Given the description of an element on the screen output the (x, y) to click on. 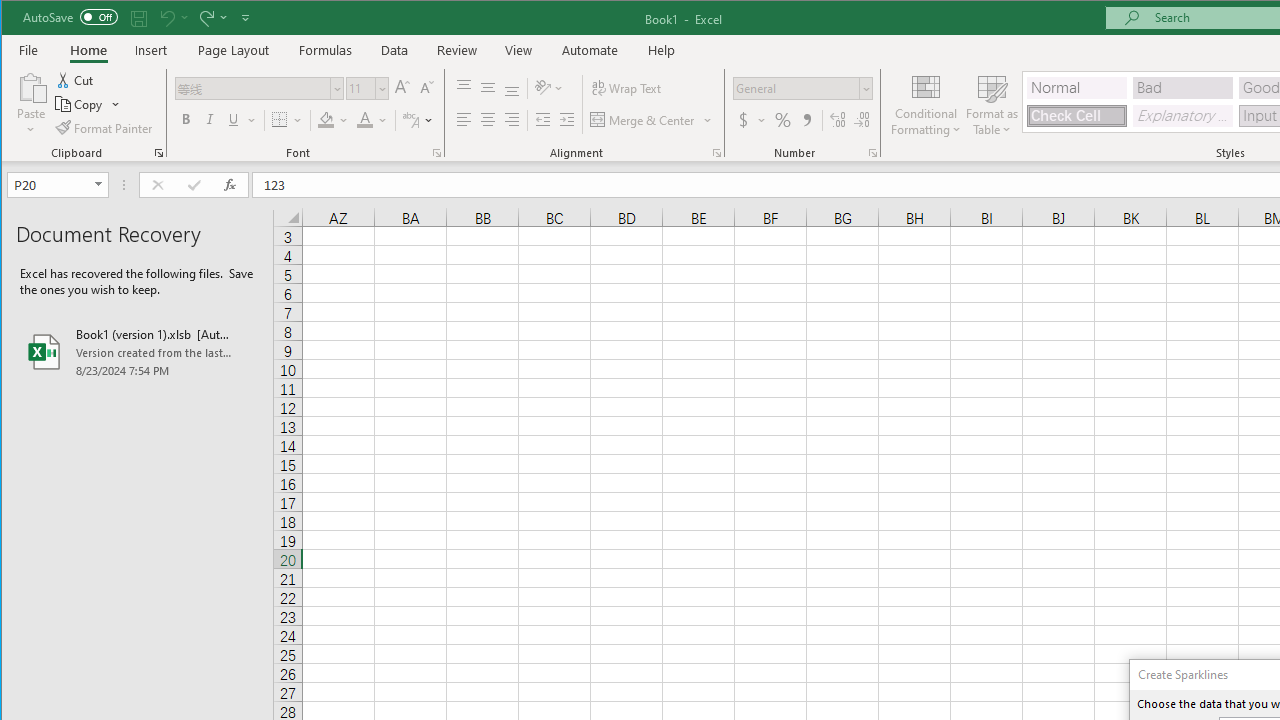
Merge & Center (651, 119)
Borders (286, 119)
Wrap Text (627, 88)
Check Cell (1077, 116)
